Given the description of an element on the screen output the (x, y) to click on. 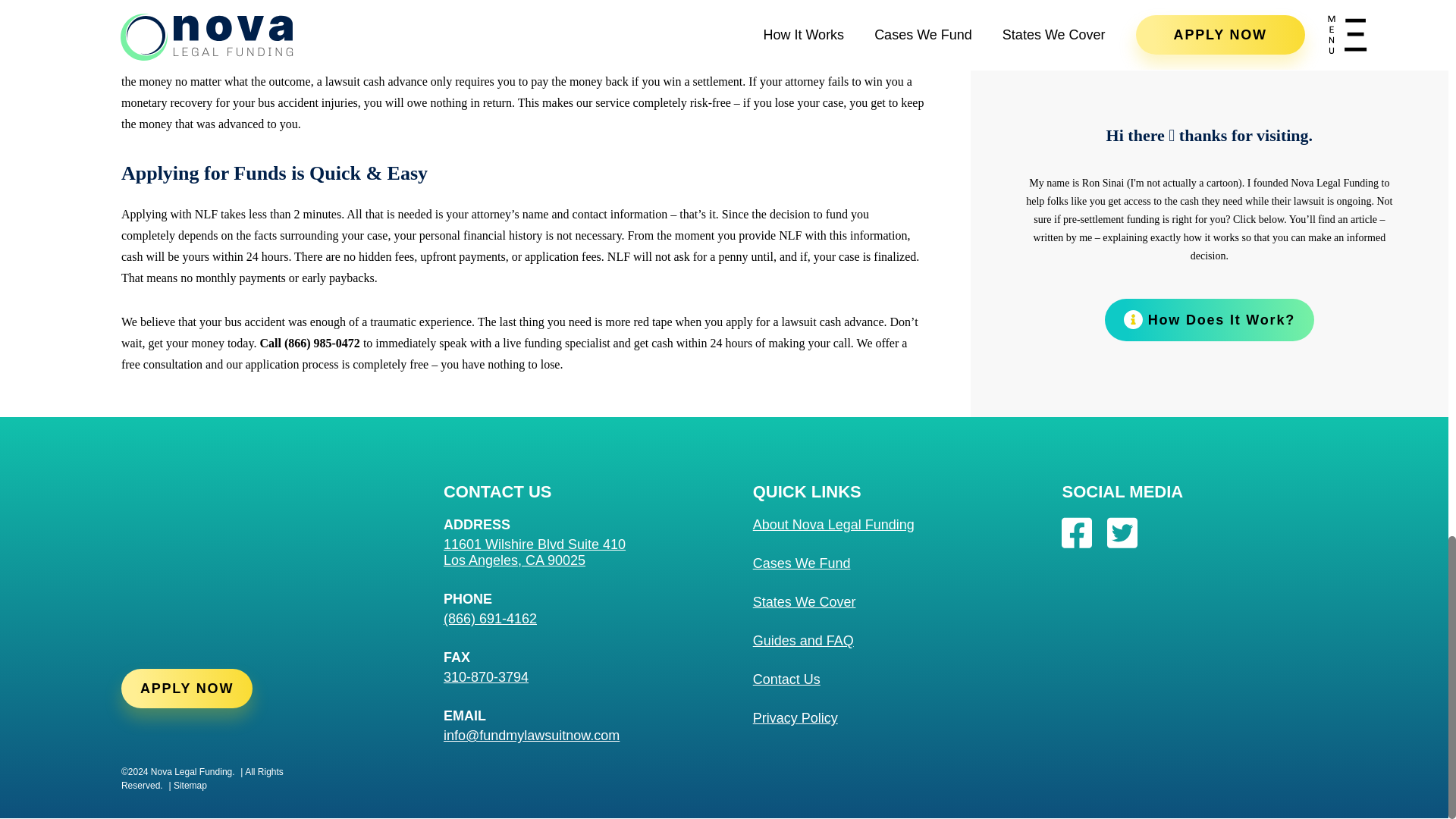
Email (598, 735)
Fax (598, 677)
Nova Legal Funding's sitemap (185, 785)
